Given the description of an element on the screen output the (x, y) to click on. 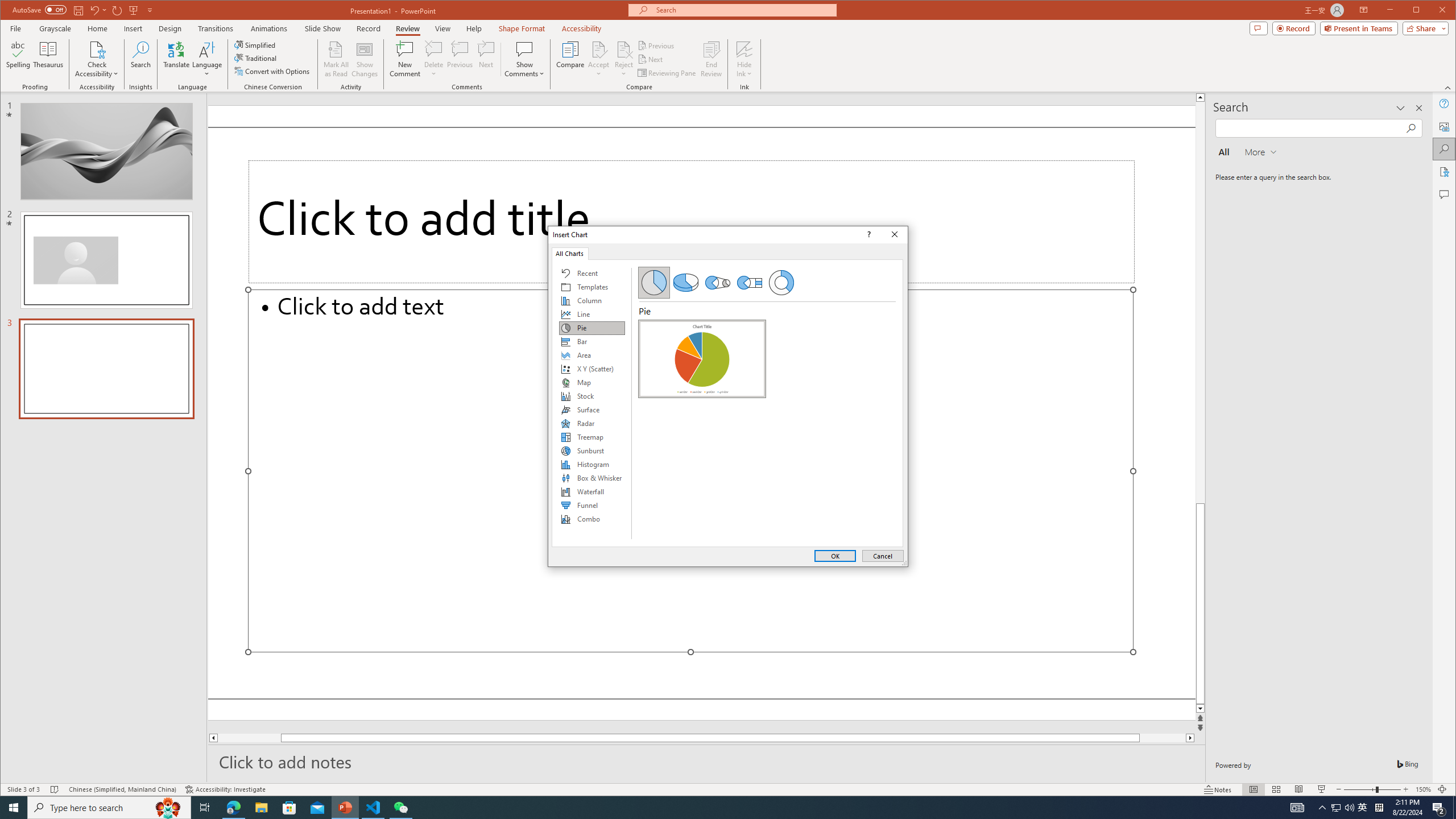
PowerPoint - 1 running window (345, 807)
AutomationID: 4105 (1297, 807)
Type here to search (108, 807)
Reviewing Pane (667, 72)
Previous (657, 45)
X Y (Scatter) (591, 368)
File Explorer (261, 807)
Accept Change (598, 48)
Next (651, 59)
Reject Change (623, 48)
